Given the description of an element on the screen output the (x, y) to click on. 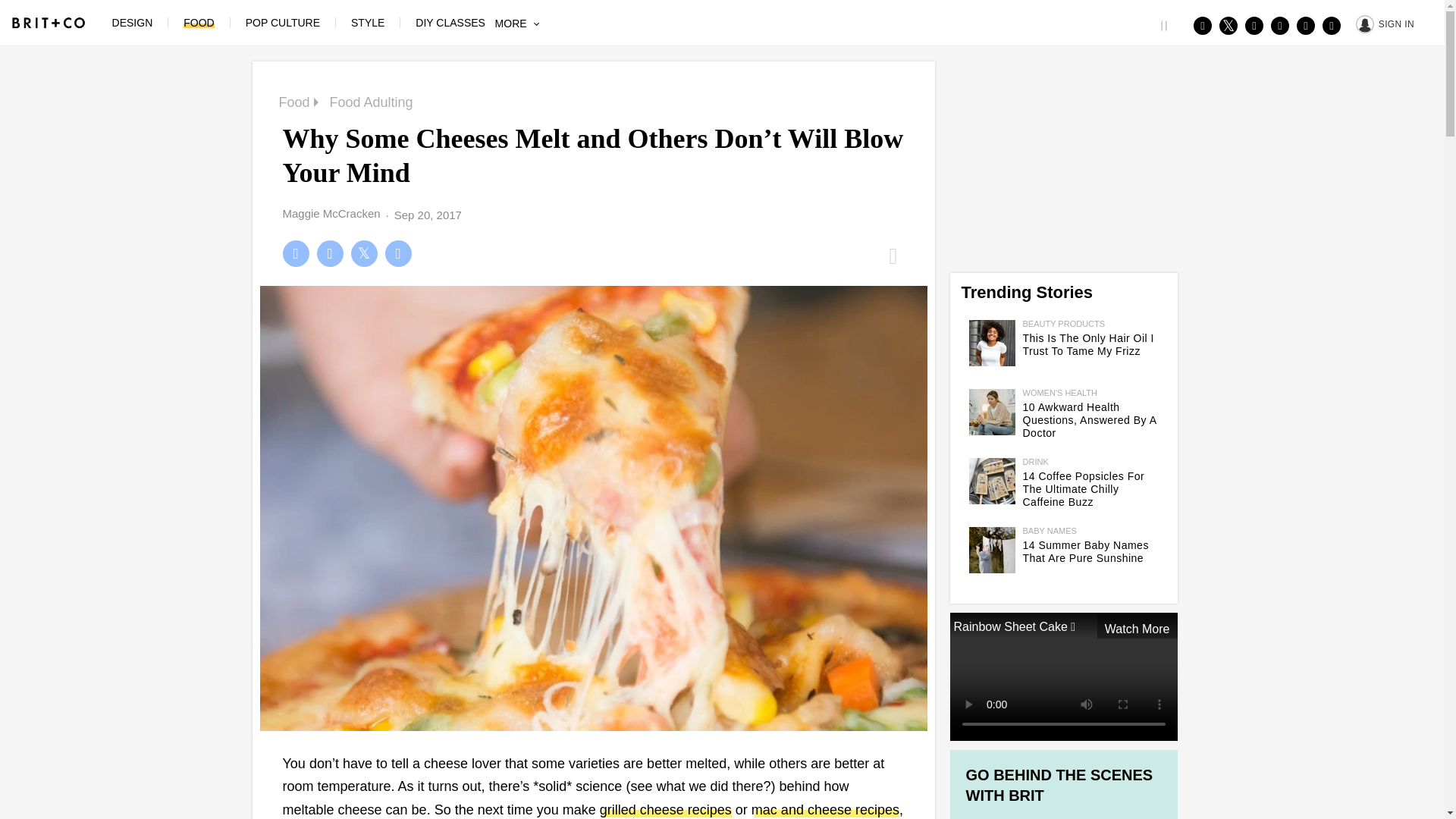
POP CULTURE (283, 22)
FOOD (198, 22)
SIGN IN (1384, 23)
3rd party ad content (1062, 155)
DIY CLASSES (449, 22)
DESIGN (132, 22)
STYLE (367, 22)
